Given the description of an element on the screen output the (x, y) to click on. 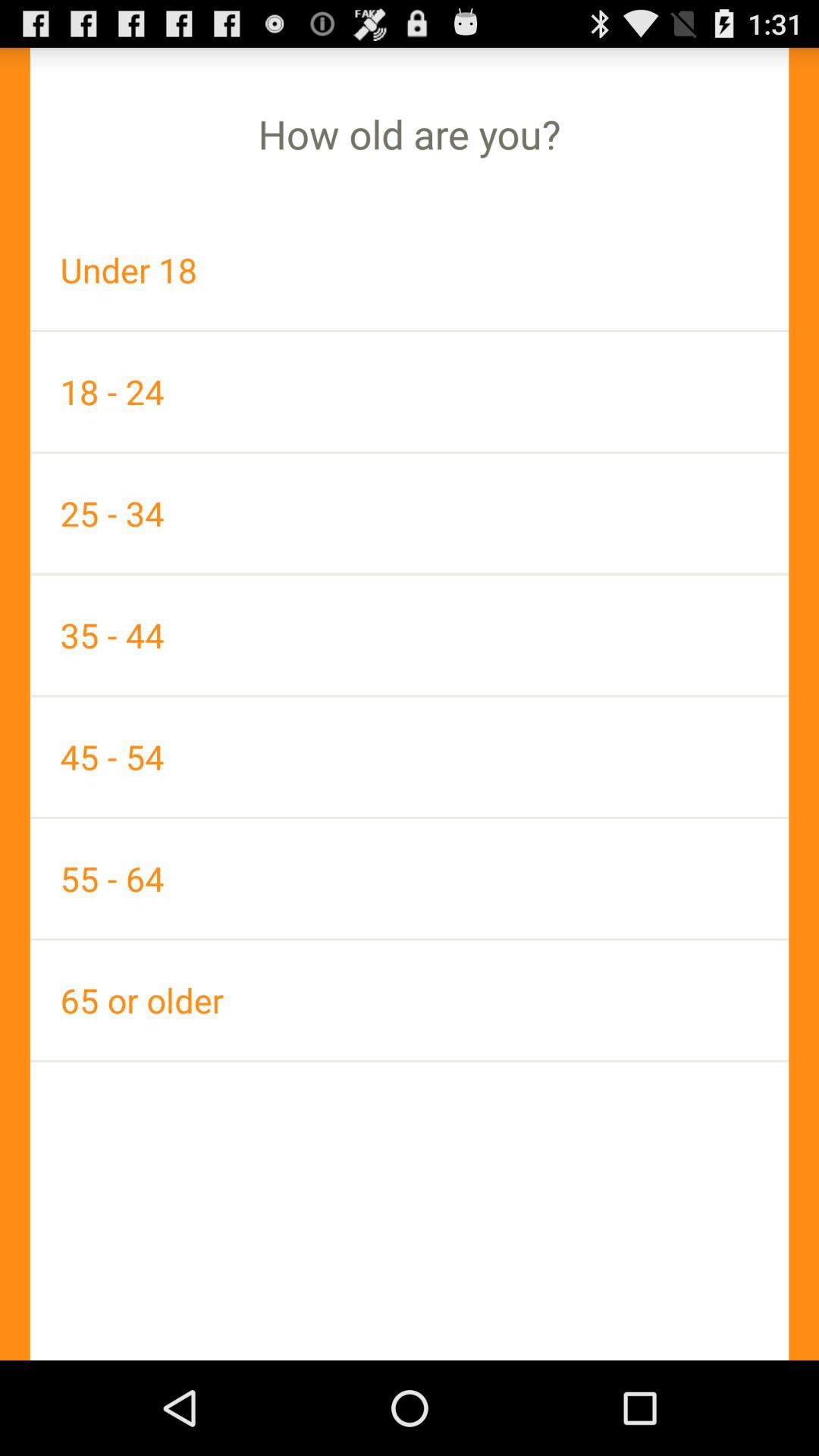
turn off app below the under 18 app (409, 391)
